Given the description of an element on the screen output the (x, y) to click on. 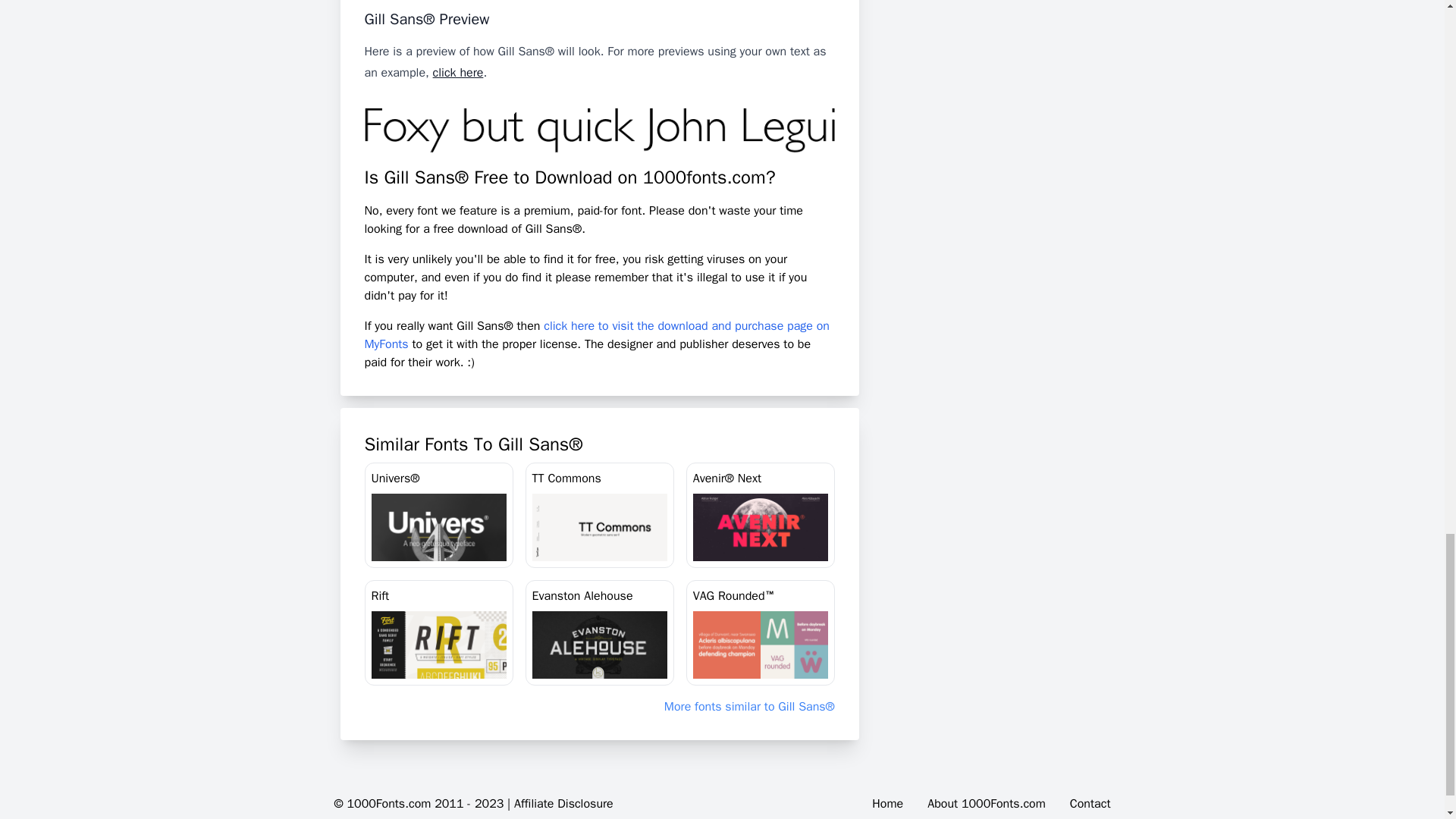
click here (457, 72)
Affiliate Disclosure (562, 803)
Rift (438, 632)
TT Commons (599, 515)
Evanston Alehouse (599, 632)
